Given the description of an element on the screen output the (x, y) to click on. 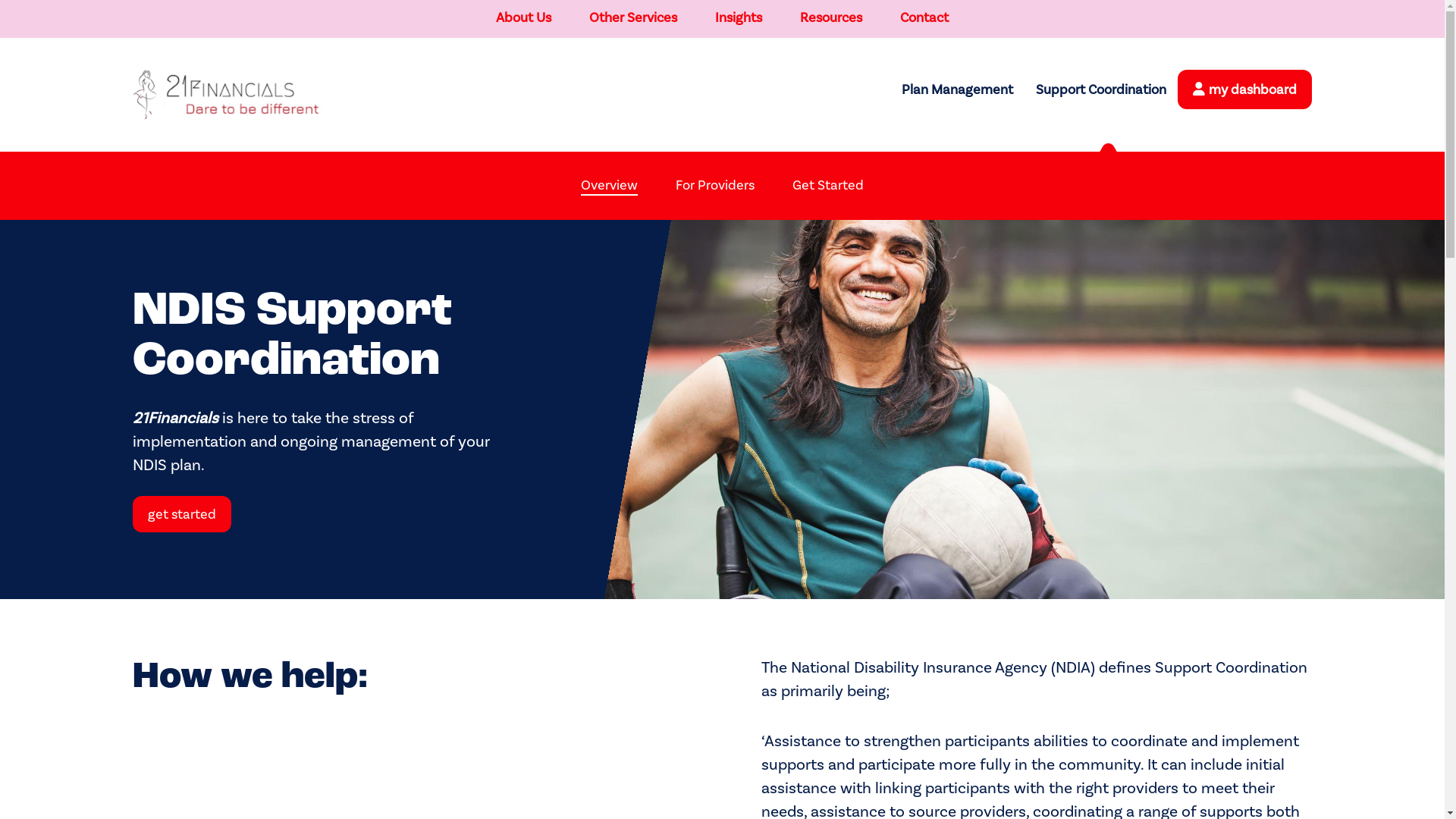
Plan Management Element type: text (957, 90)
Resources Element type: text (831, 17)
About Us Element type: text (523, 17)
Get Started Element type: text (827, 185)
Overview Element type: text (608, 185)
Support Coordination Element type: text (1100, 90)
Contact Element type: text (924, 17)
my dashboard Element type: text (1252, 89)
Insights Element type: text (738, 17)
For Providers Element type: text (714, 185)
get started Element type: text (181, 513)
